Given the description of an element on the screen output the (x, y) to click on. 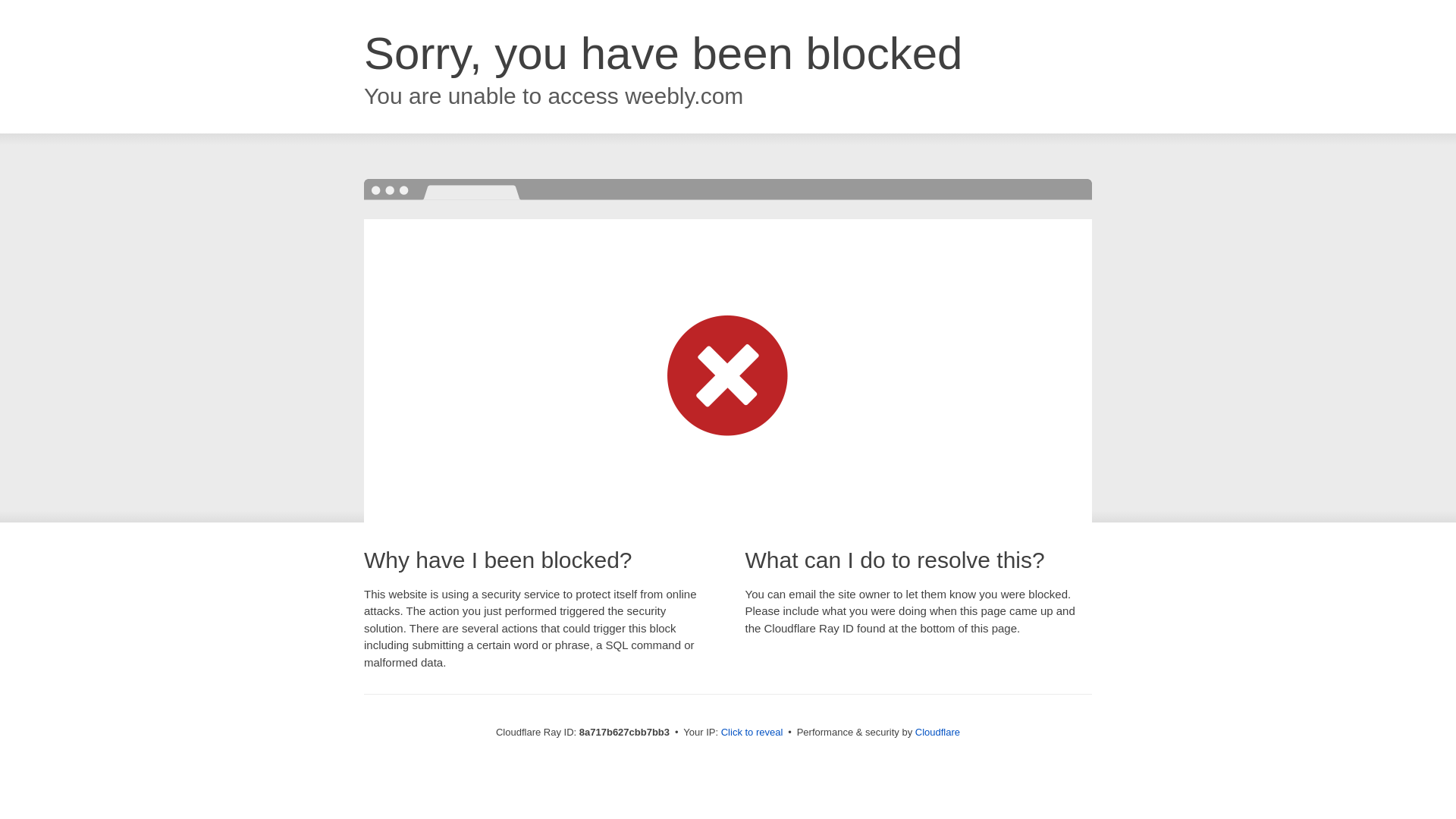
Cloudflare (937, 731)
Click to reveal (751, 732)
